Given the description of an element on the screen output the (x, y) to click on. 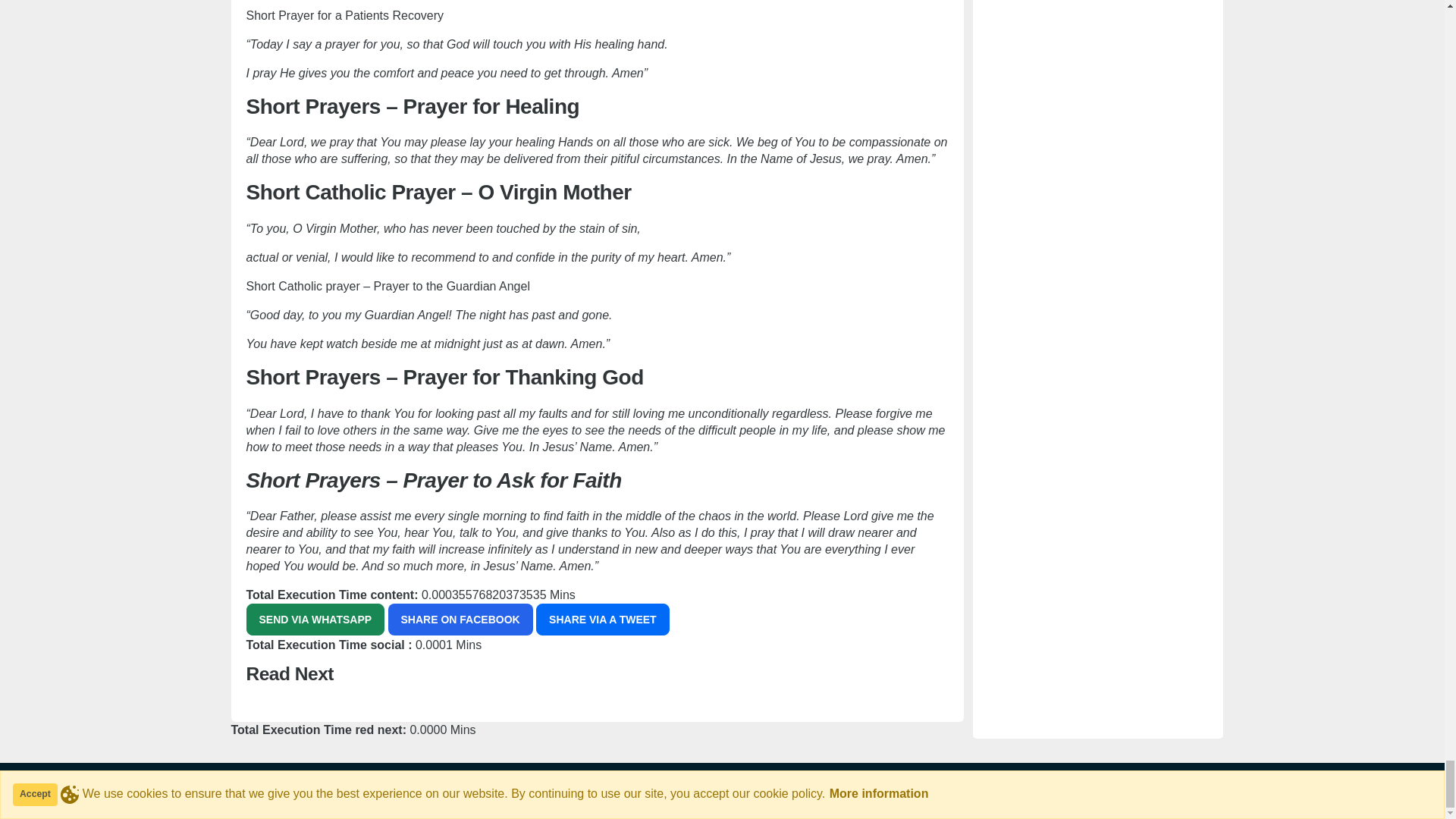
SHARE ON FACEBOOK (460, 619)
SEND VIA WHATSAPP (315, 619)
Gamba Net developers (307, 794)
About (1100, 794)
SHARE VIA A TWEET (602, 619)
